Given the description of an element on the screen output the (x, y) to click on. 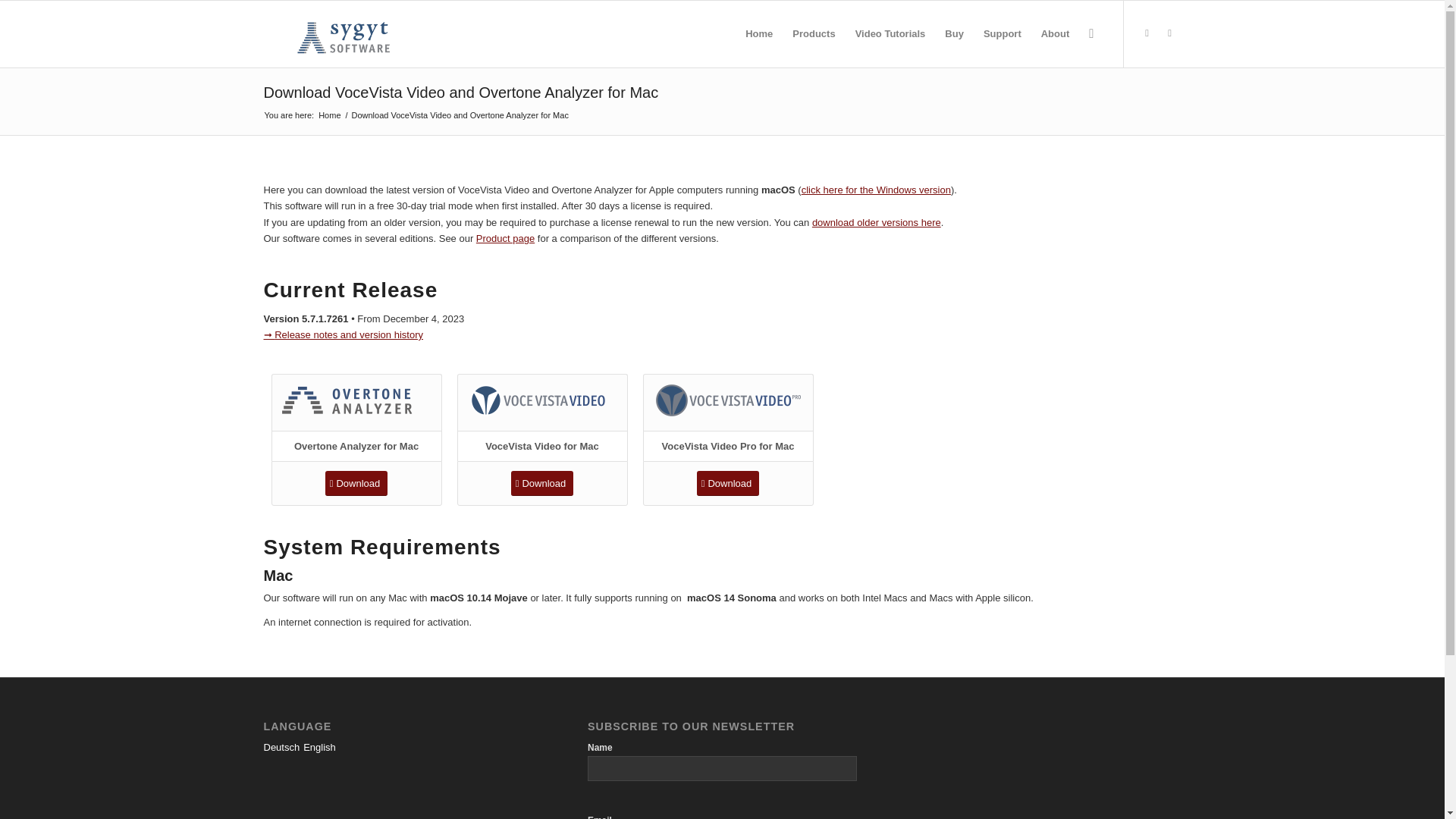
Overtone Analyzer (355, 400)
click here for the Windows version (876, 189)
Instagram (1146, 33)
Download (356, 483)
VoceVista Video (542, 400)
Download (542, 483)
Product page (505, 238)
Facebook (1169, 33)
Deutsch (281, 747)
VoceVista Video Pro (727, 400)
Download (728, 483)
Video Tutorials (890, 33)
Release notes and version history (343, 334)
download older versions here (876, 222)
